Given the description of an element on the screen output the (x, y) to click on. 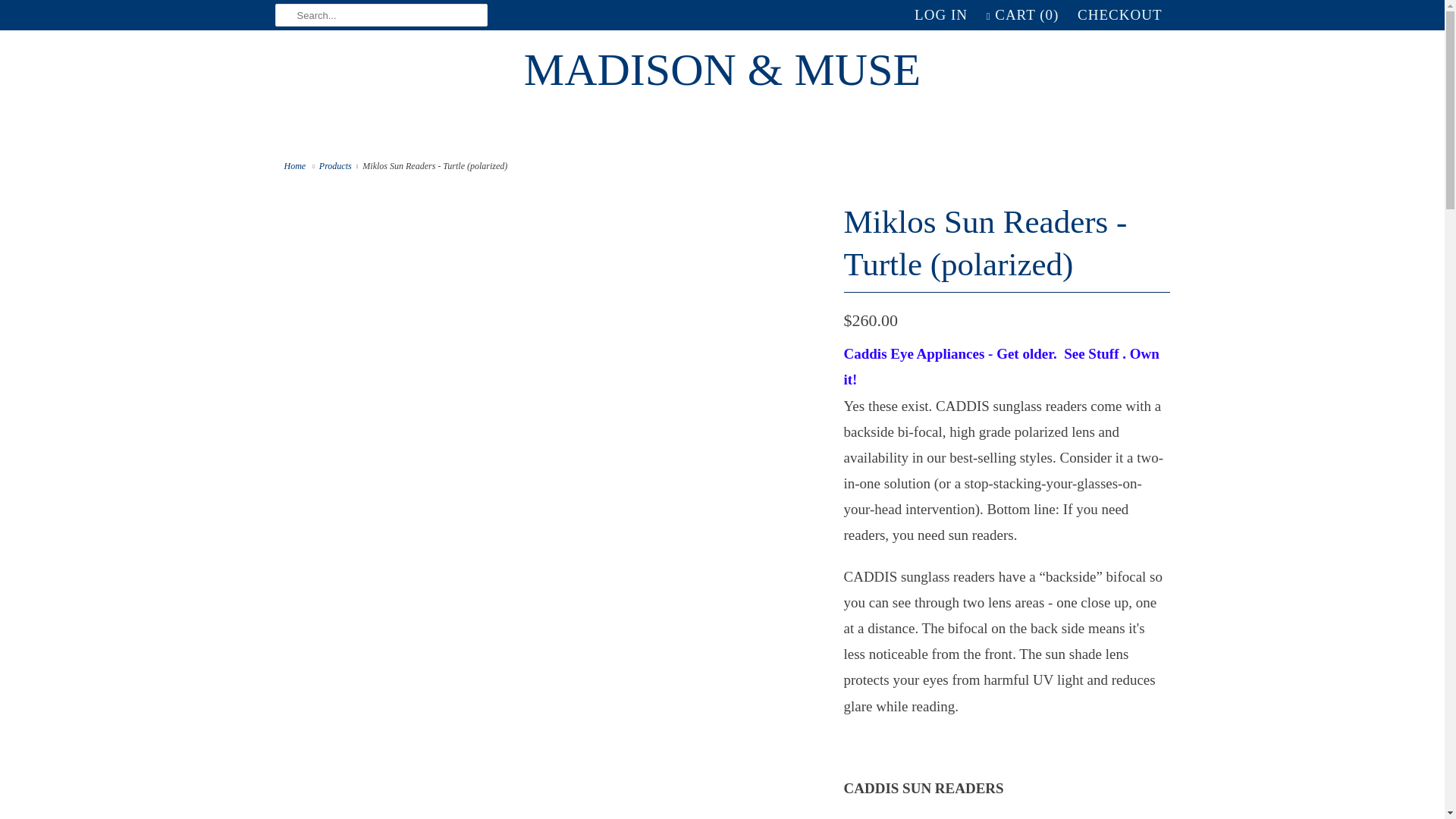
Products (335, 165)
Products (335, 165)
LOG IN (941, 15)
CHECKOUT (1119, 15)
Home (295, 165)
